Given the description of an element on the screen output the (x, y) to click on. 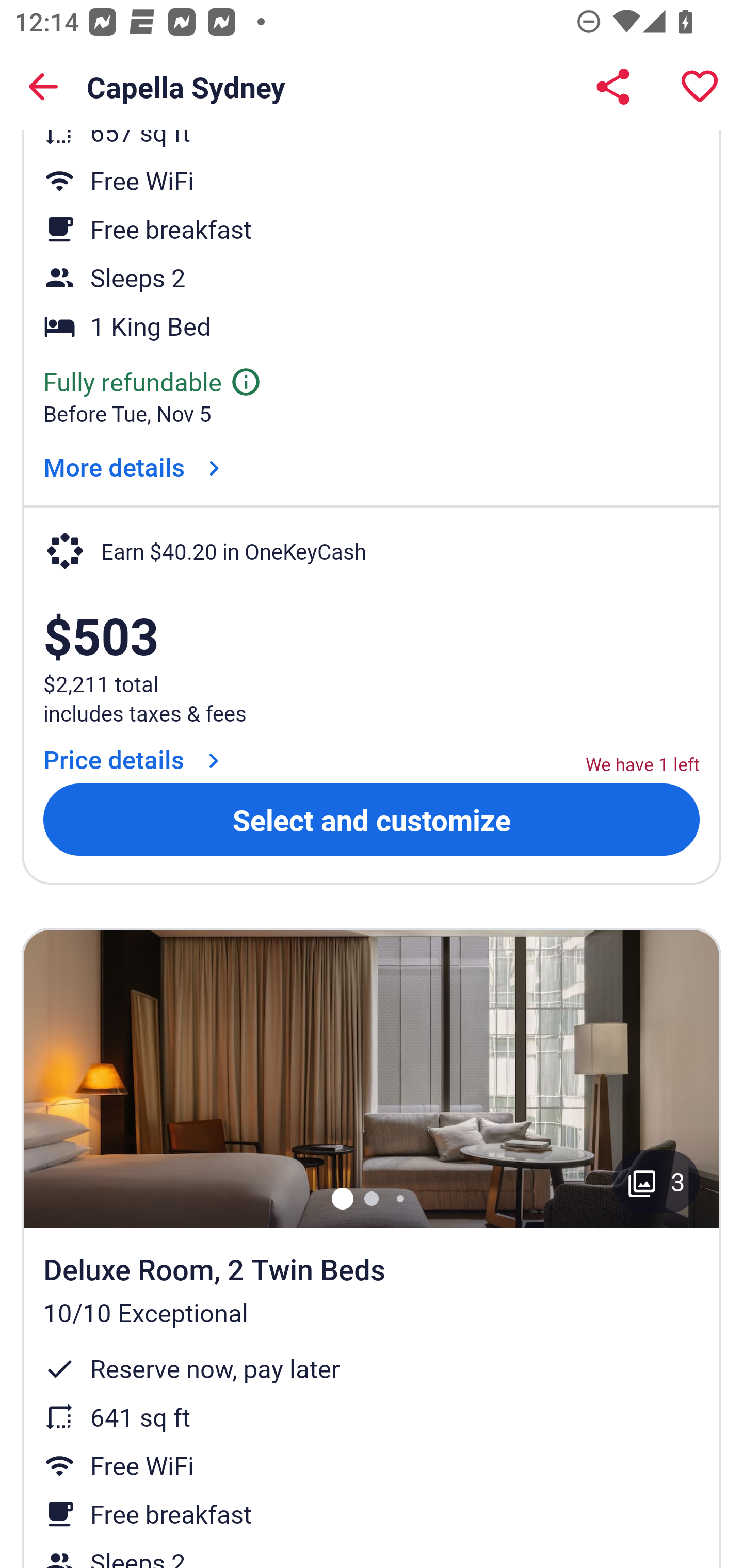
Back (43, 86)
Save property to a trip (699, 86)
Share Capella Sydney (612, 87)
Fully refundable (152, 381)
Select and customize (371, 819)
Gallery button with 3 images (655, 1181)
